Given the description of an element on the screen output the (x, y) to click on. 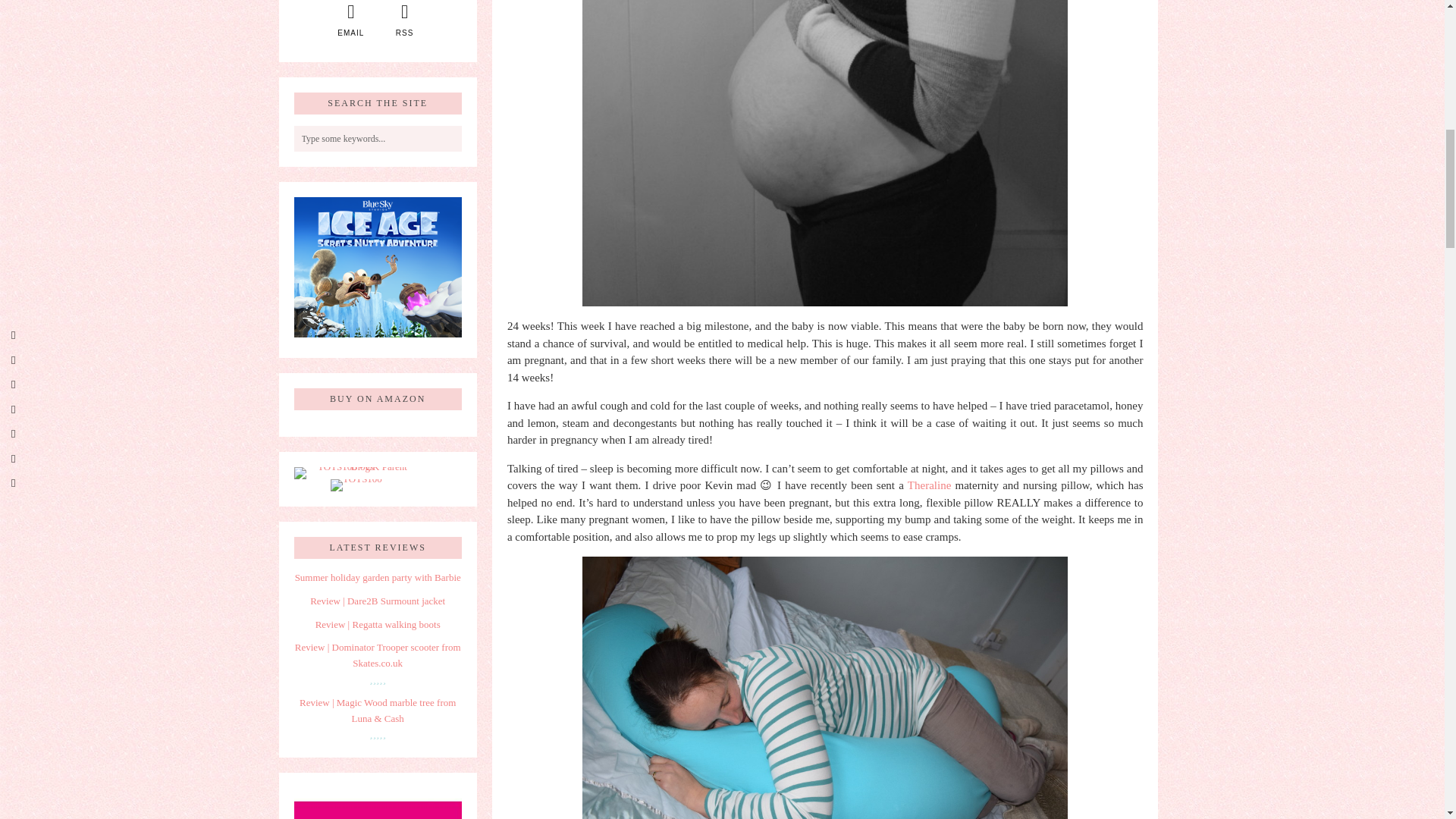
Theraline (928, 485)
